Given the description of an element on the screen output the (x, y) to click on. 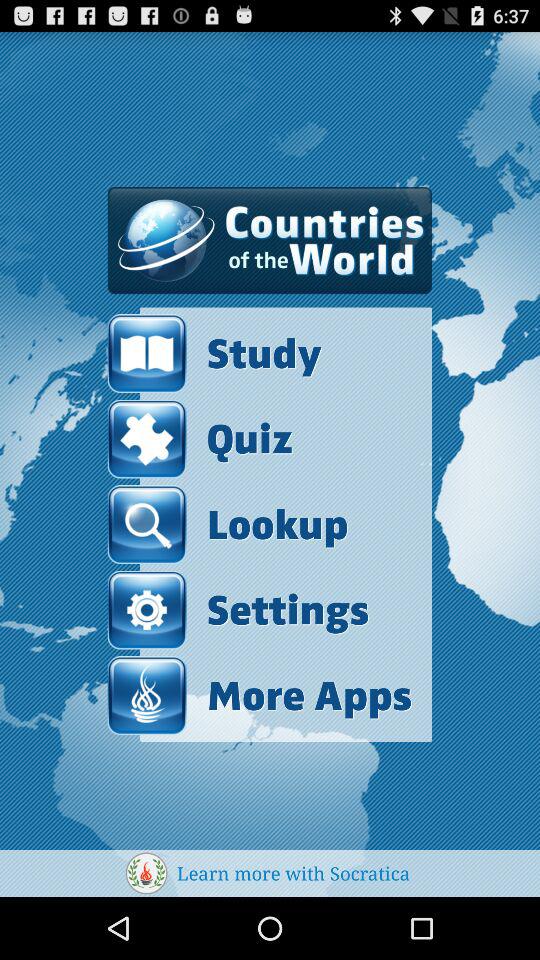
tap item below quiz icon (227, 524)
